Given the description of an element on the screen output the (x, y) to click on. 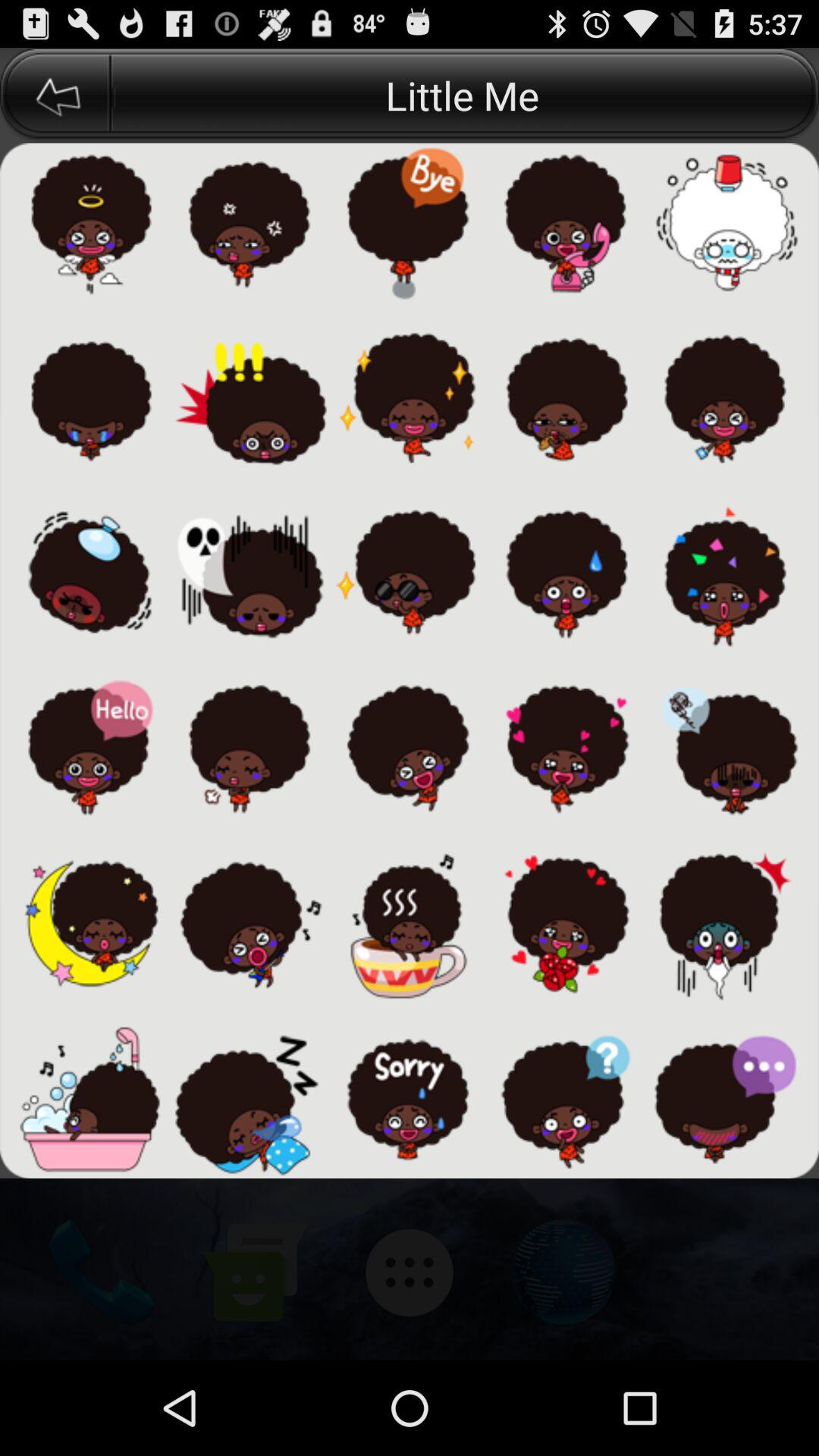
jump to the little me item (465, 95)
